Given the description of an element on the screen output the (x, y) to click on. 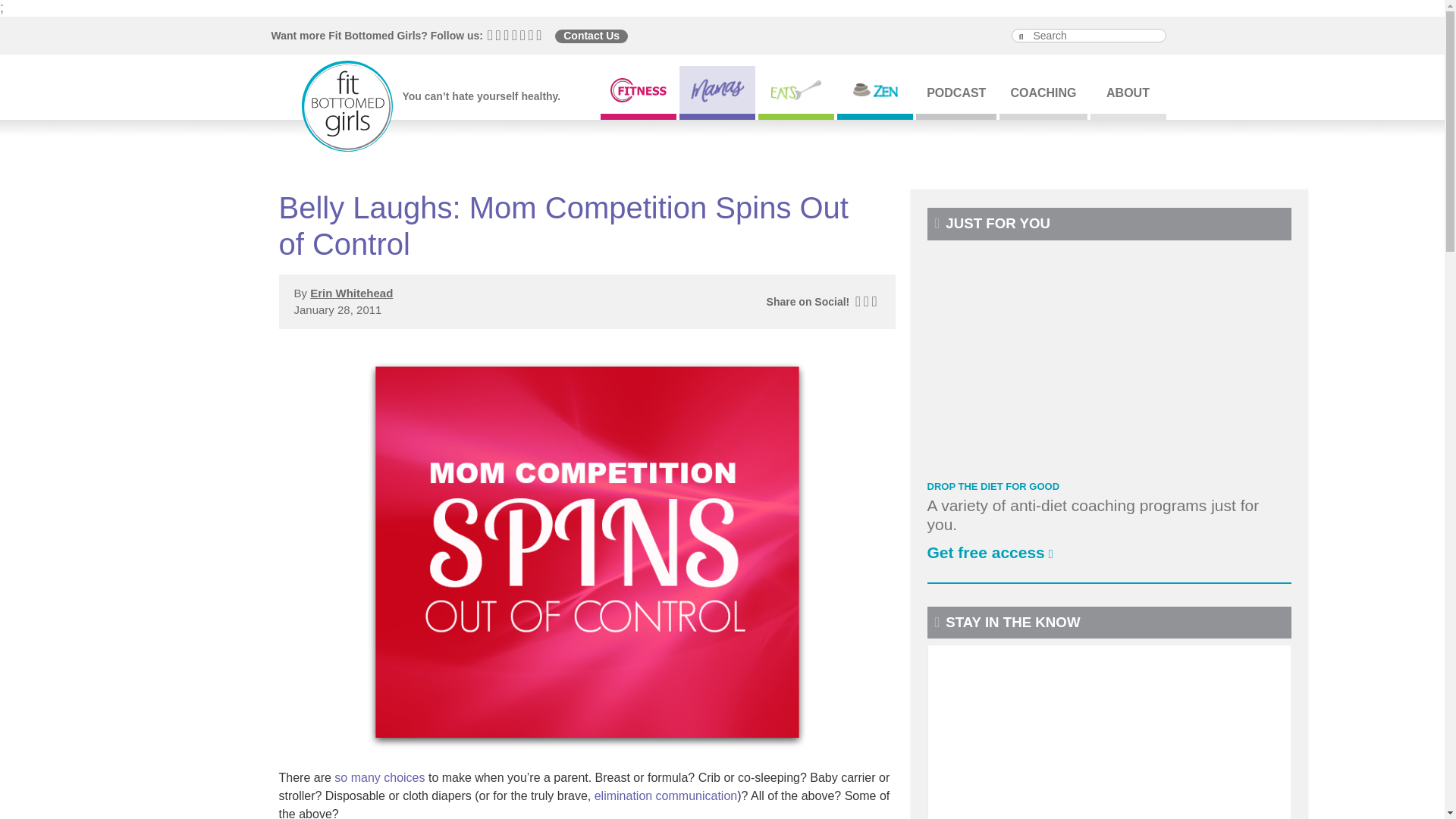
elimination communication (666, 795)
parenting choices (379, 777)
Contact Us (590, 36)
Posts by Erin Whitehead (351, 292)
